Given the description of an element on the screen output the (x, y) to click on. 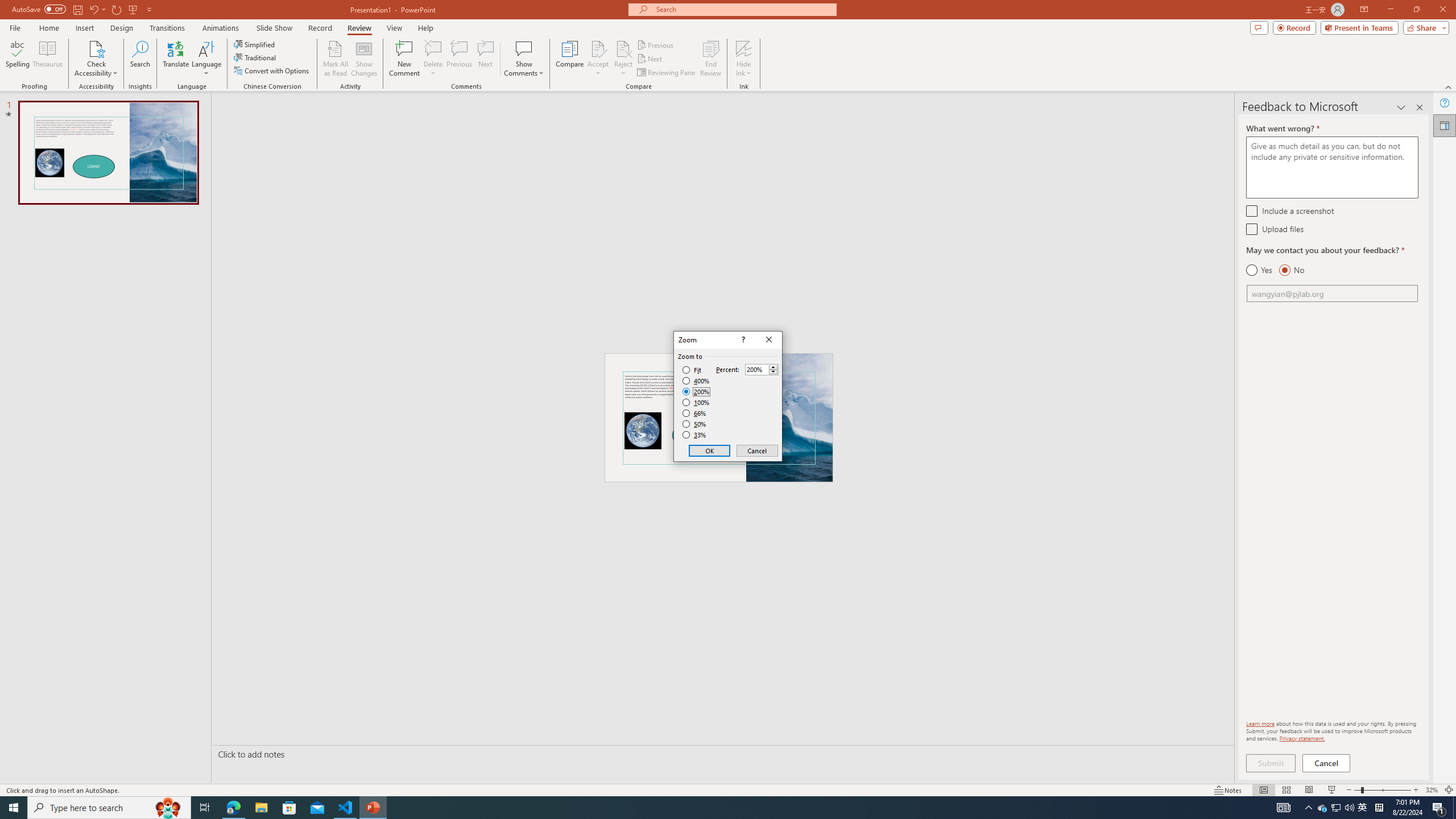
Privacy statement. (1301, 738)
